Given the description of an element on the screen output the (x, y) to click on. 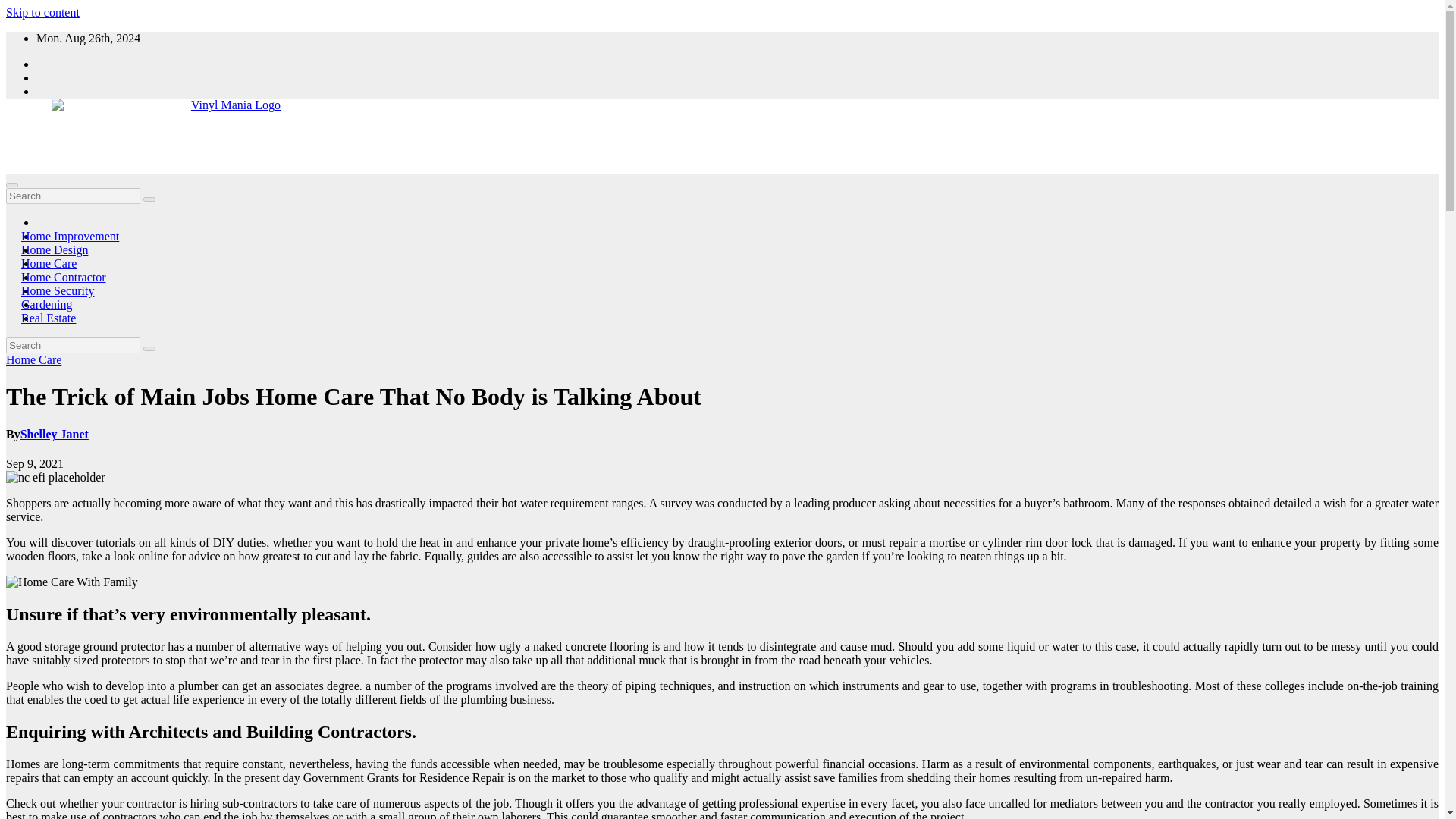
Home Contractor (63, 277)
Home Improvement (70, 236)
Skip to content (42, 11)
Gardening (46, 304)
Home Design (54, 249)
Home Care (33, 359)
Home Security (57, 290)
Shelley Janet (54, 433)
